Given the description of an element on the screen output the (x, y) to click on. 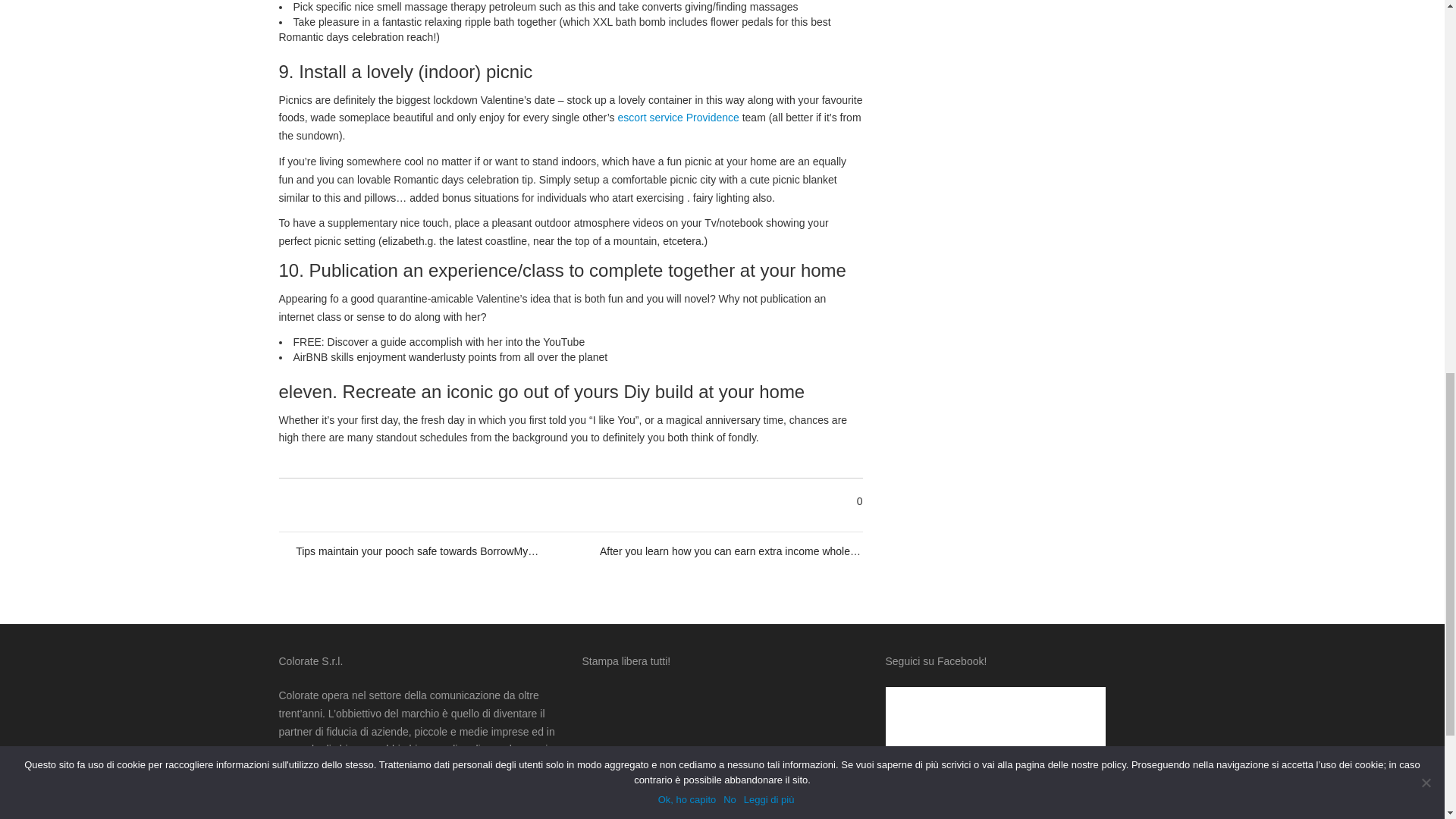
Tips maintain your pooch safe towards BorrowMyDoggy (419, 551)
escort service Providence (677, 117)
